Given the description of an element on the screen output the (x, y) to click on. 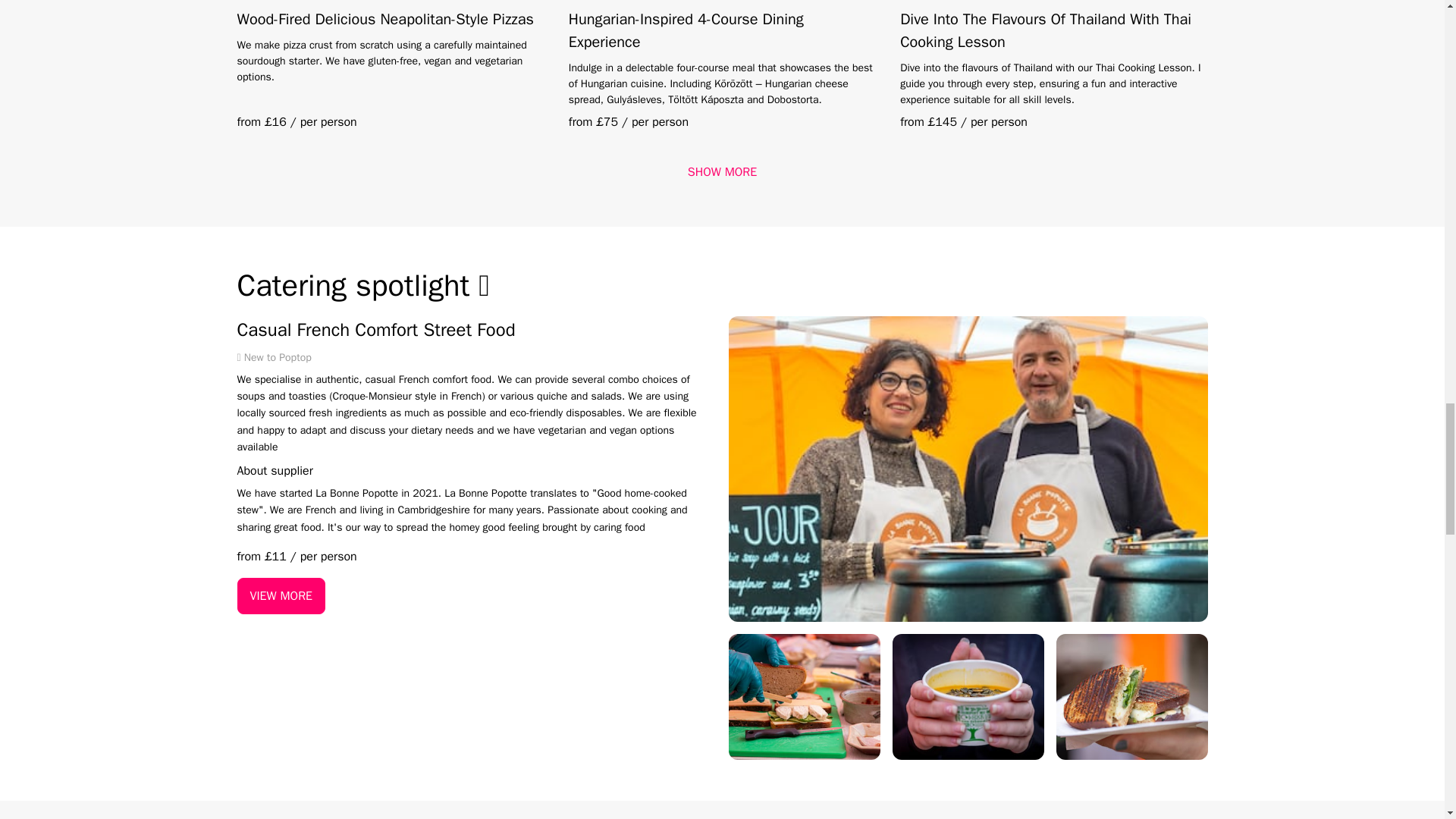
VIEW MORE (279, 596)
SHOW MORE (721, 171)
